Given the description of an element on the screen output the (x, y) to click on. 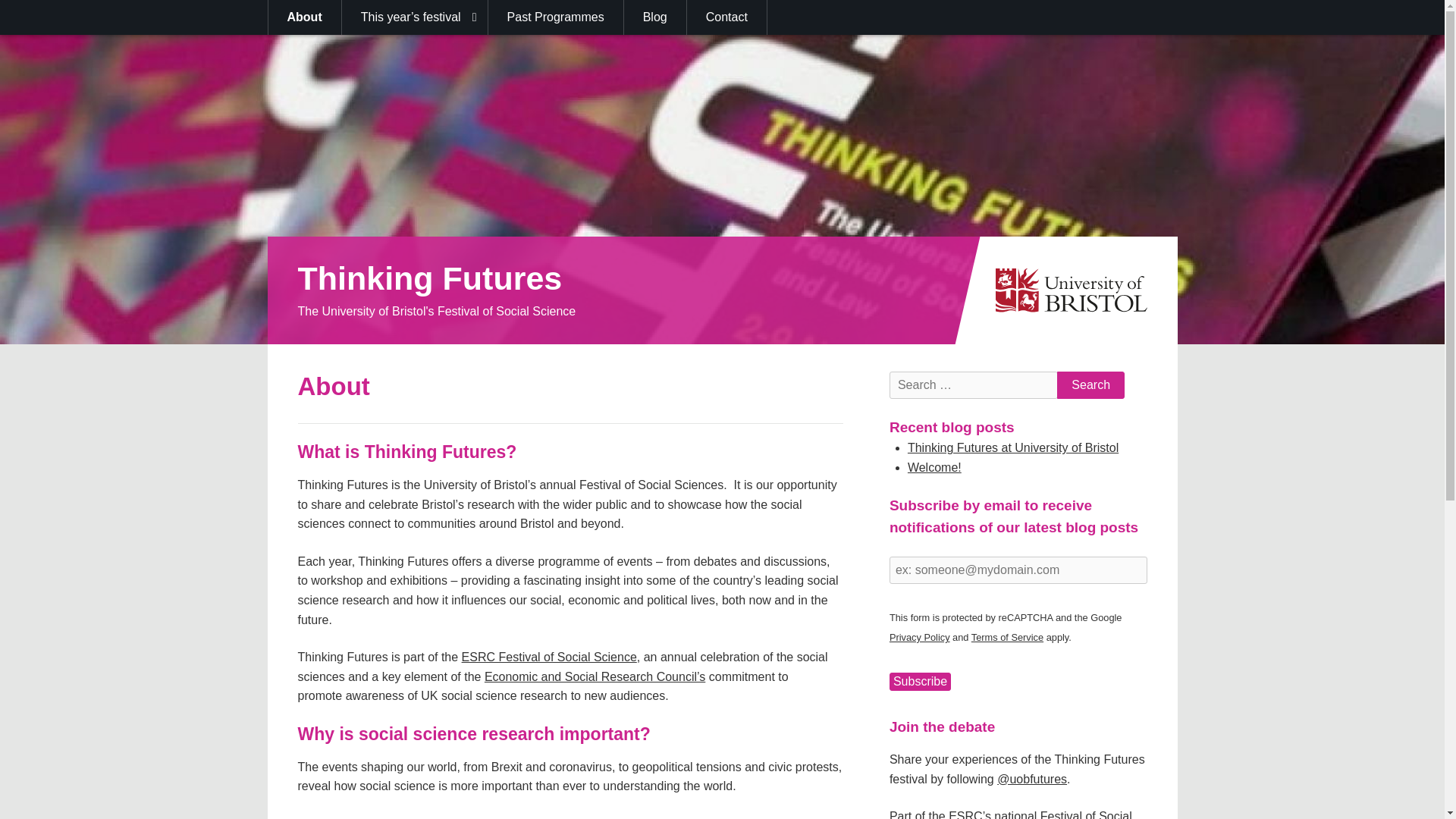
About (304, 17)
Search (1090, 384)
Contact (727, 17)
ESRC Festival of Social Science (549, 656)
Blog (655, 17)
Subscribe (919, 681)
Privacy Policy (919, 636)
Terms of Service (1007, 636)
Search (1090, 384)
Search (1090, 384)
